Given the description of an element on the screen output the (x, y) to click on. 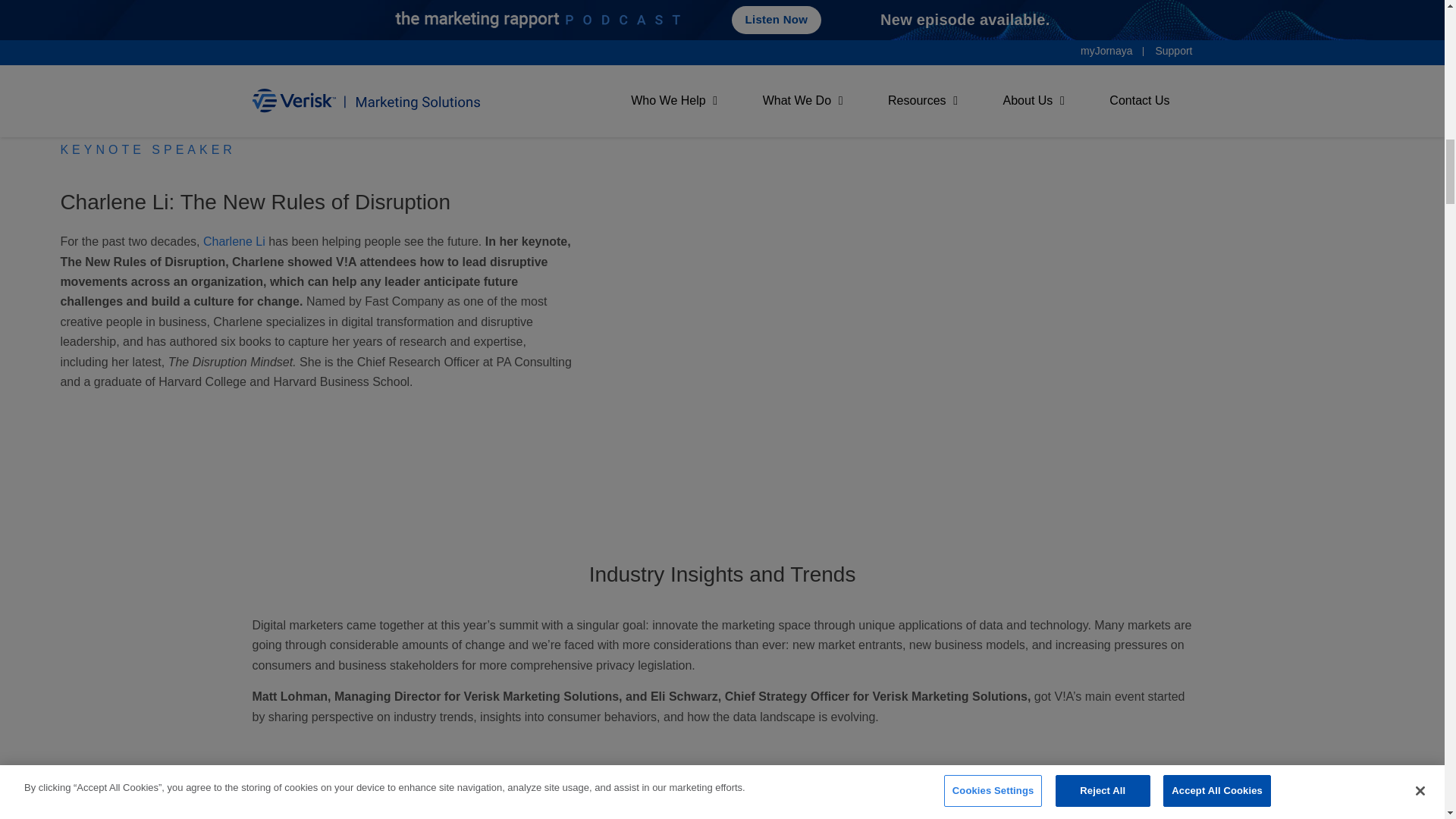
Charlene Li (233, 241)
